Given the description of an element on the screen output the (x, y) to click on. 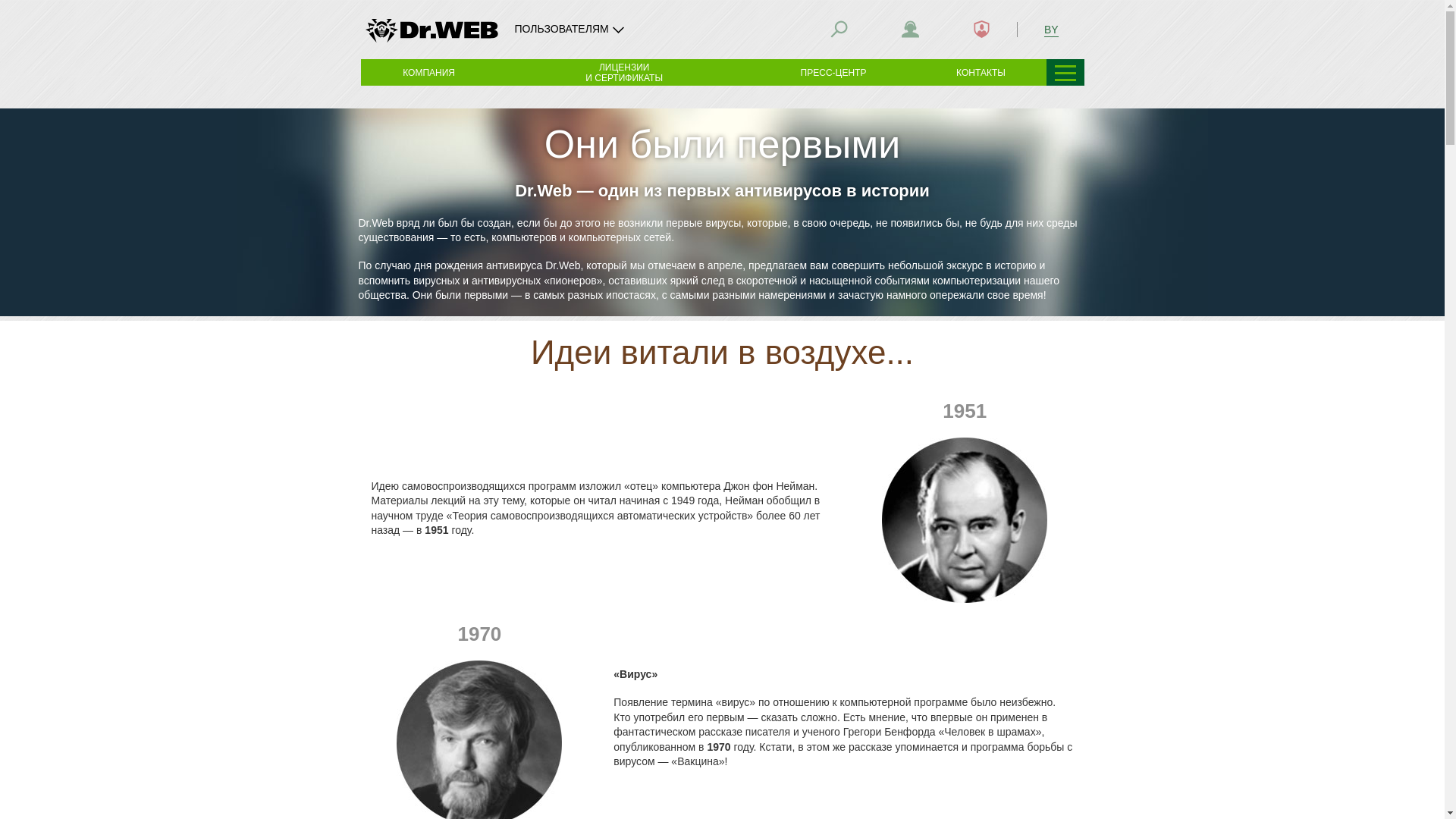
BY Element type: text (1051, 28)
